Given the description of an element on the screen output the (x, y) to click on. 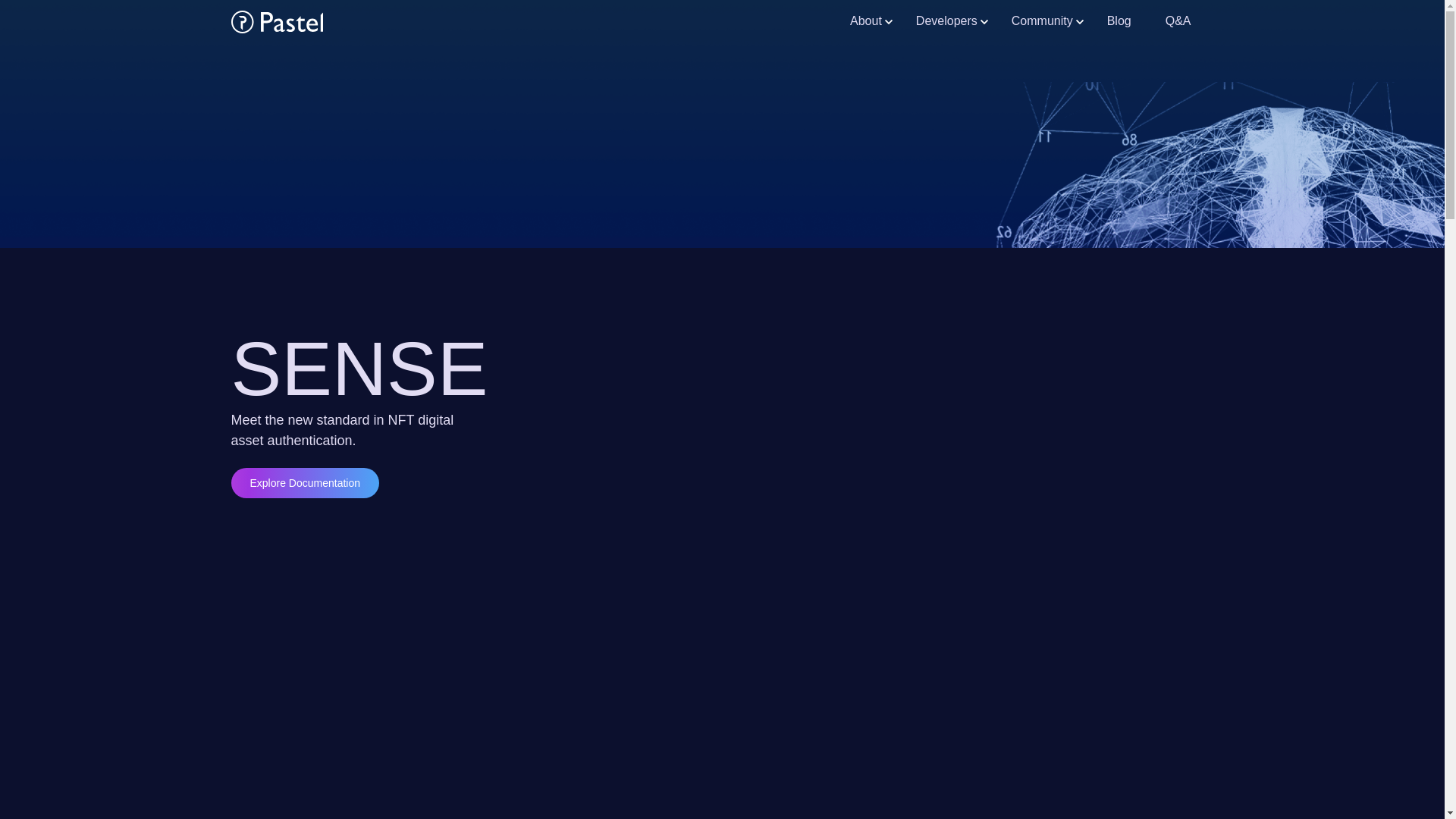
Community (1047, 20)
Developers (951, 20)
Explore Documentation (304, 482)
About (871, 20)
Blog (1124, 20)
